Given the description of an element on the screen output the (x, y) to click on. 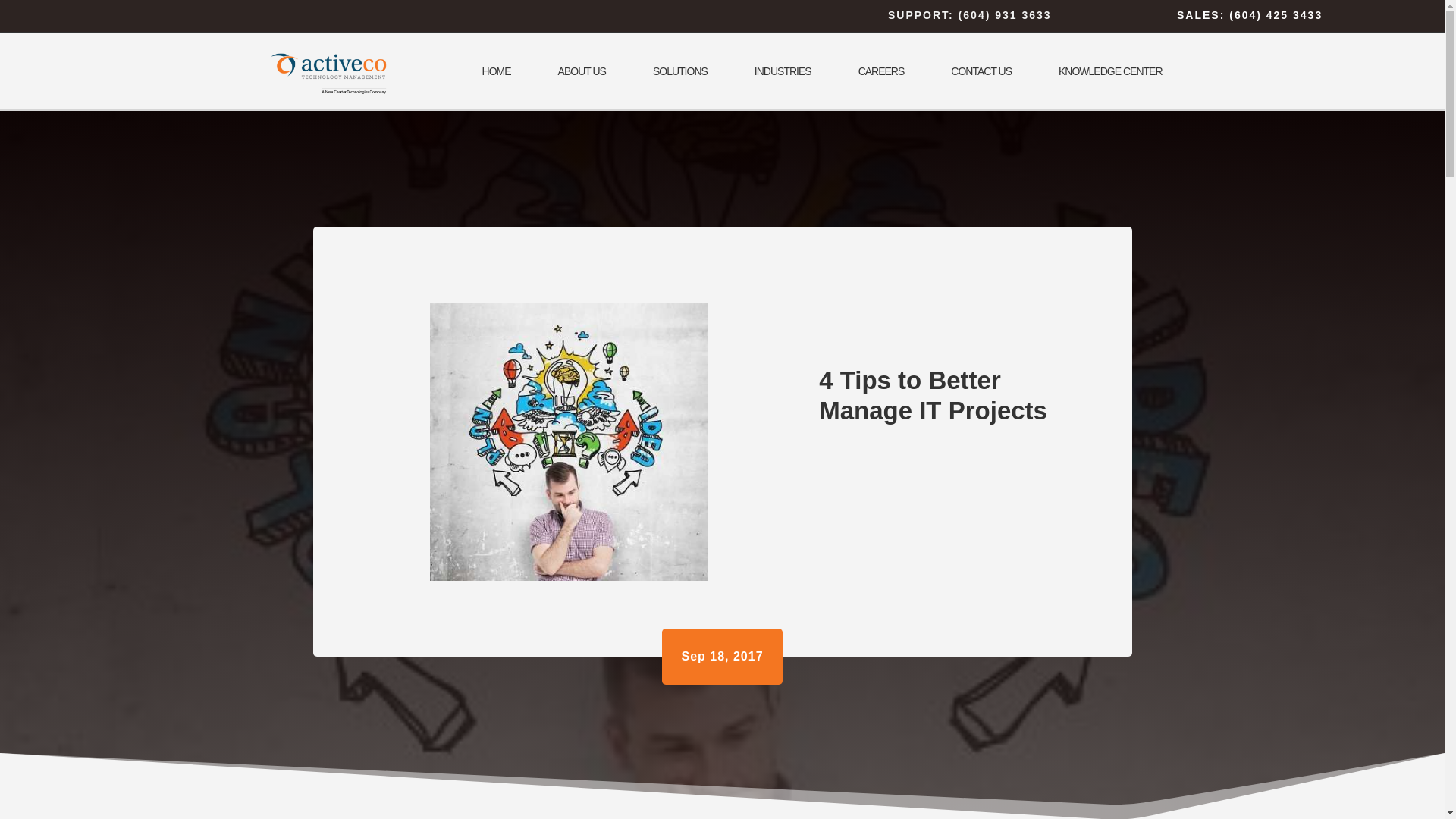
CAREERS (881, 71)
KNOWLEDGE CENTER (1109, 71)
SOLUTIONS (679, 71)
CONTACT US (981, 71)
INDUSTRIES (783, 71)
HOME (496, 71)
ABOUT US (582, 71)
